Given the description of an element on the screen output the (x, y) to click on. 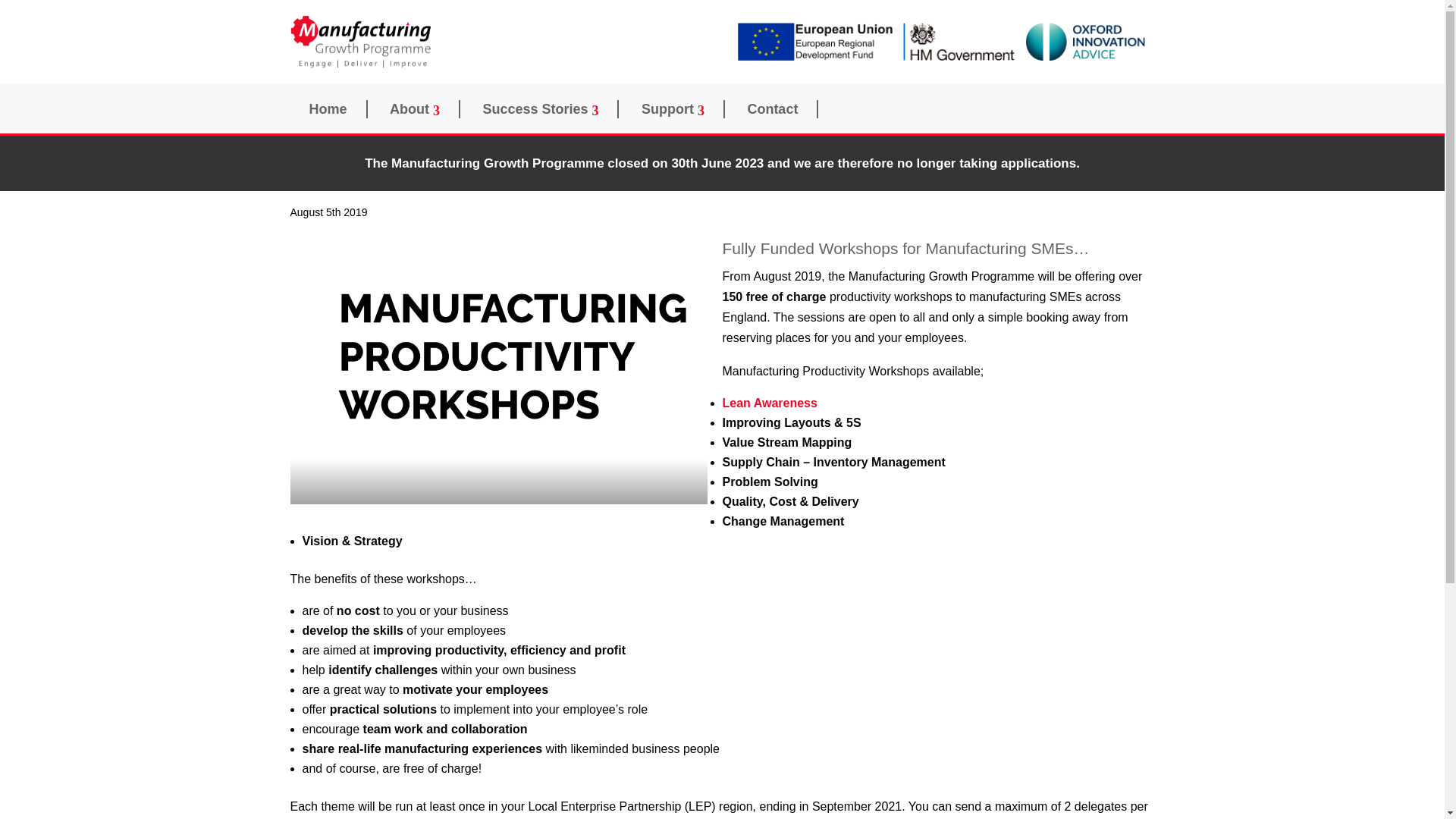
Support (674, 108)
Lean Awareness (769, 402)
Contact (773, 108)
Home (327, 108)
Success Stories (540, 108)
About (415, 108)
